Given the description of an element on the screen output the (x, y) to click on. 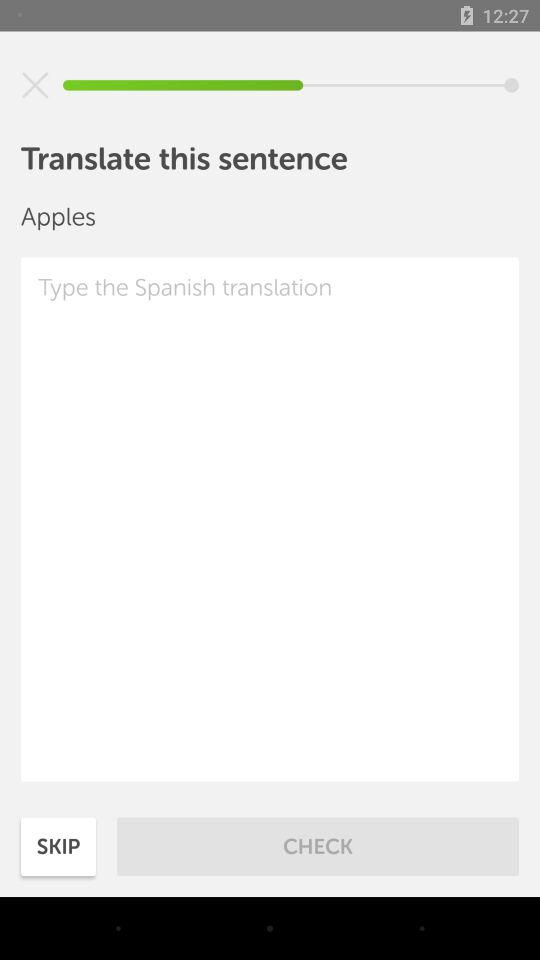
exit out of (35, 85)
